Given the description of an element on the screen output the (x, y) to click on. 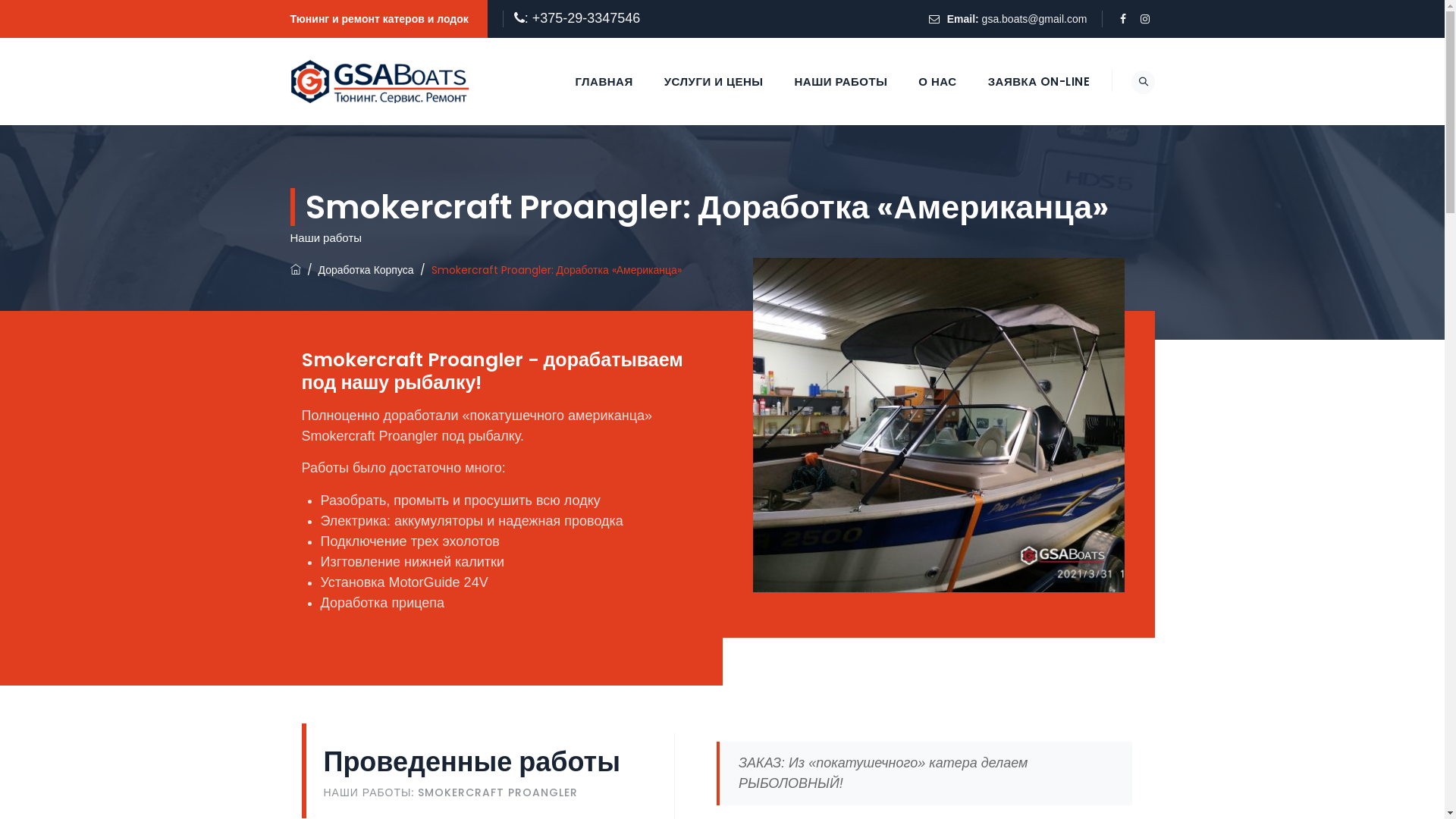
gsa.boats@gmail.com Element type: text (1034, 18)
: +375-29-3347546 Element type: text (582, 17)
Smokercraft_Proangler_main Element type: hover (937, 424)
